Given the description of an element on the screen output the (x, y) to click on. 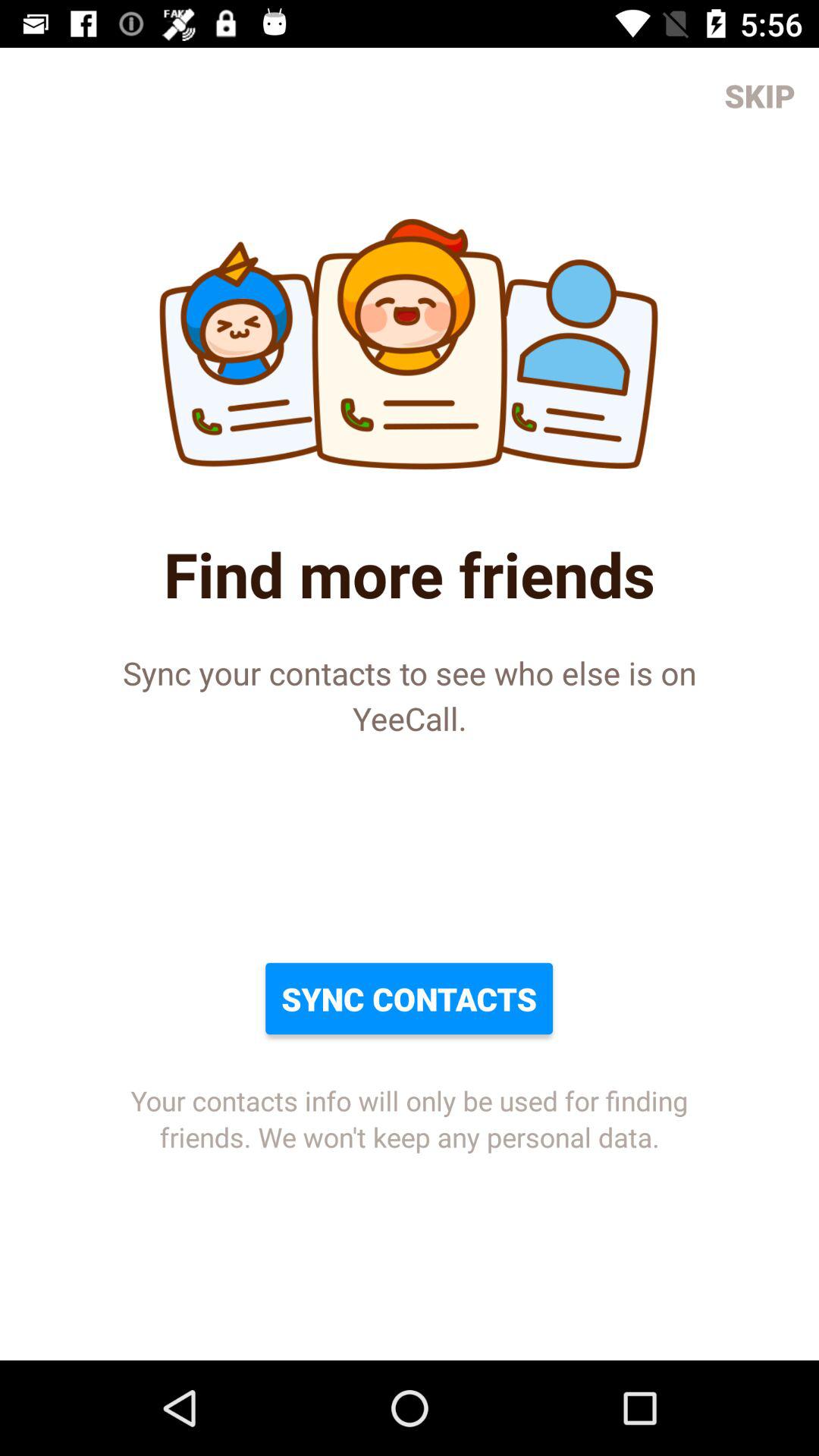
click the icon above sync your contacts item (759, 95)
